Given the description of an element on the screen output the (x, y) to click on. 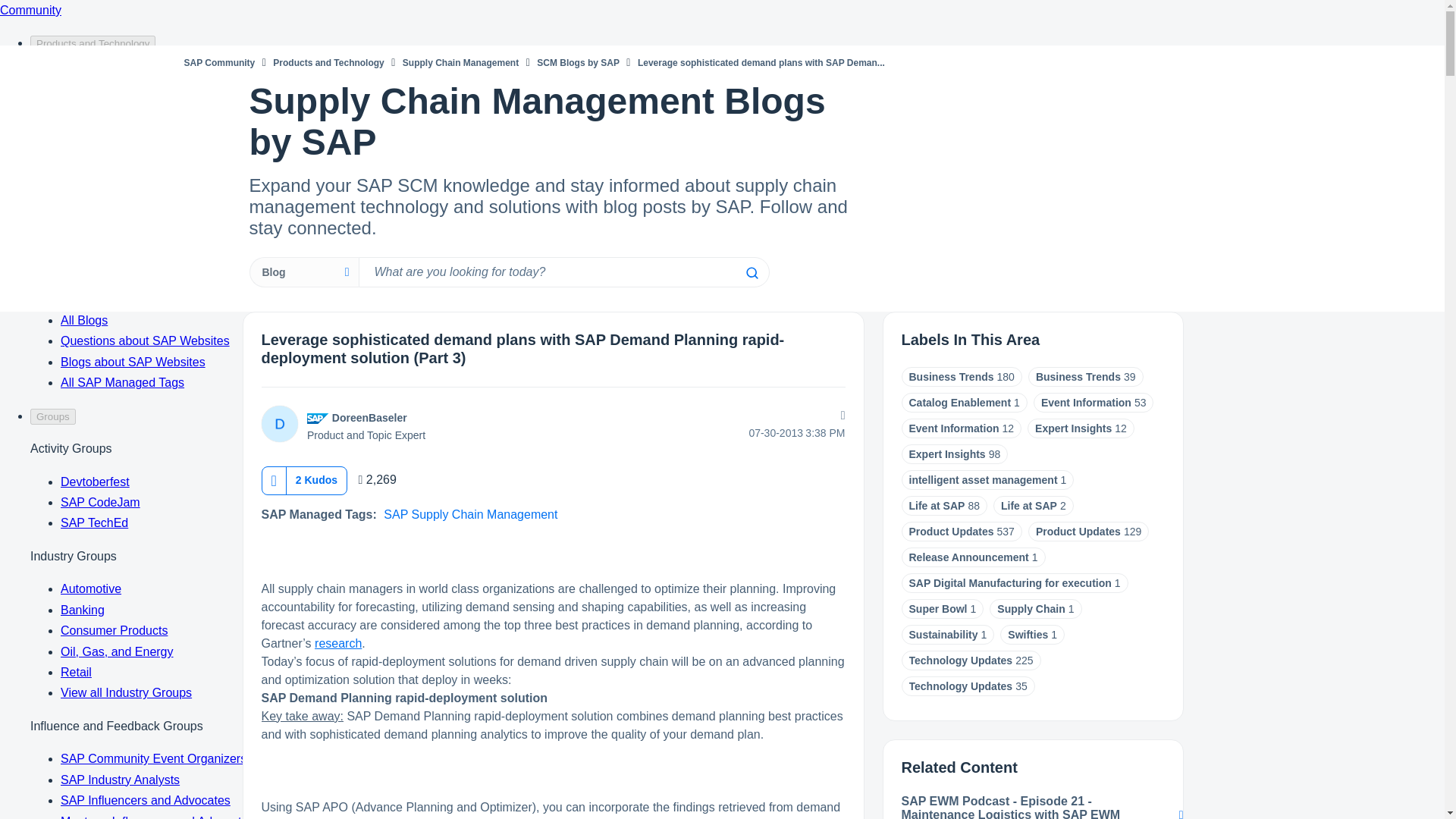
Click here to see who gave kudos to this post. (316, 479)
Search (750, 272)
Search (563, 272)
Product and Topic Expert (318, 418)
Products and Technology (328, 62)
2 Kudos (316, 479)
Search (750, 272)
DoreenBaseler (278, 423)
SCM Blogs by SAP (578, 62)
Search Granularity (303, 272)
